Given the description of an element on the screen output the (x, y) to click on. 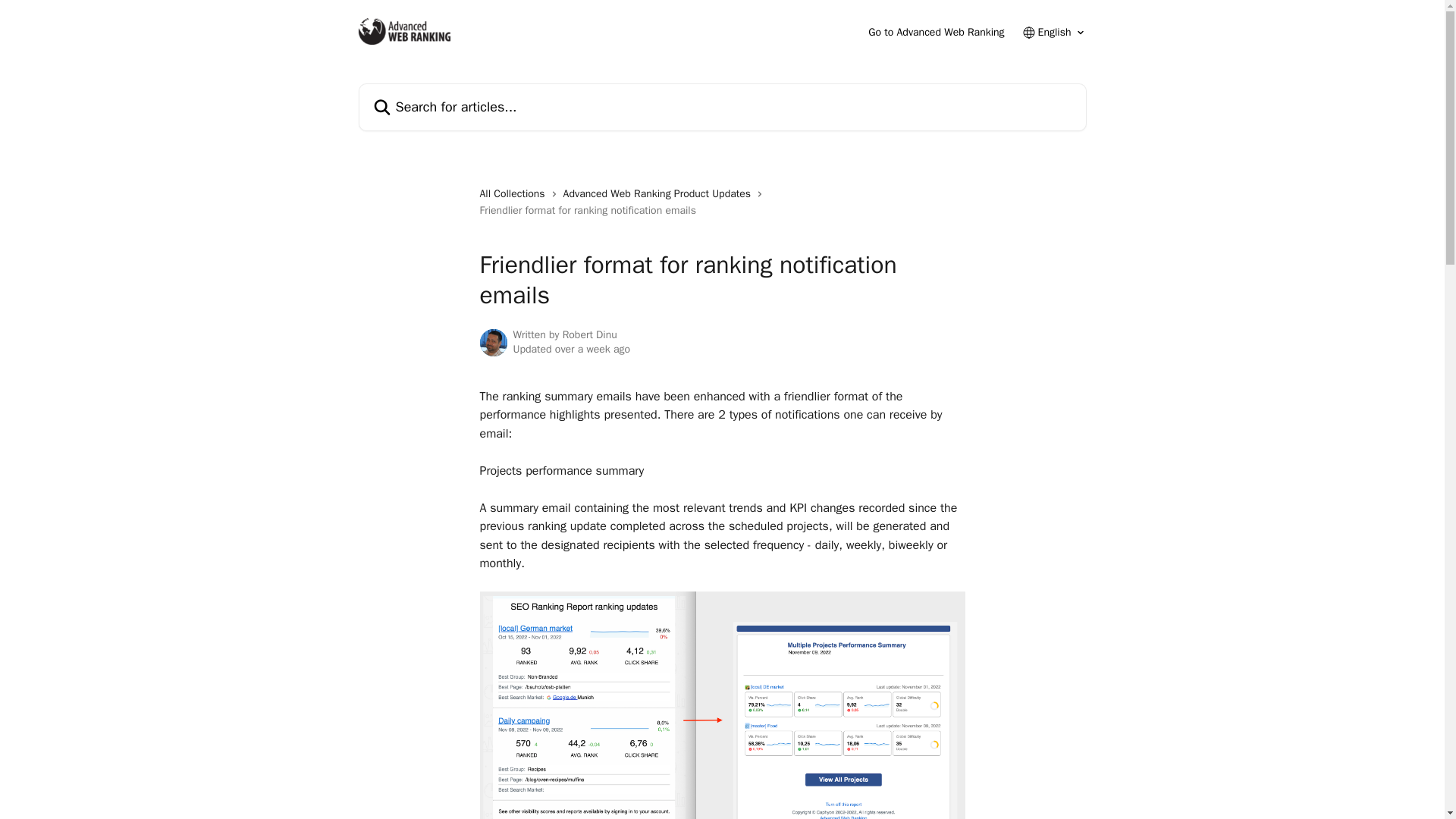
Go to Advanced Web Ranking (935, 32)
All Collections (514, 193)
Advanced Web Ranking Product Updates (660, 193)
